Given the description of an element on the screen output the (x, y) to click on. 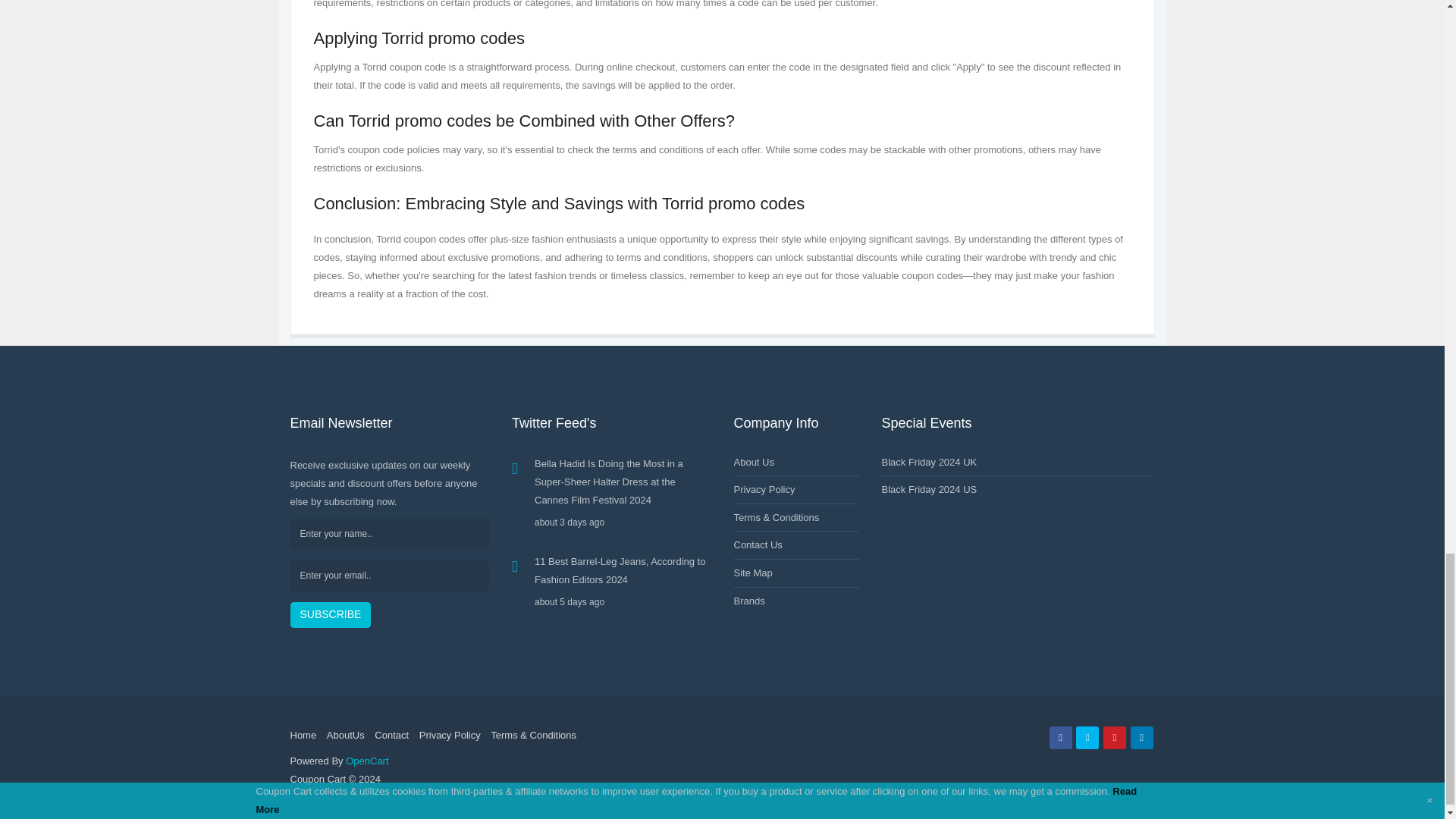
Black Friday 2024 US (928, 489)
Privacy Policy (763, 489)
Privacy Policy (449, 735)
about 3 days ago (622, 522)
SUBSCRIBE (330, 614)
About Us (753, 461)
Home (302, 735)
Black Friday 2024 UK (928, 461)
Brands (749, 600)
Contact (391, 735)
